Given the description of an element on the screen output the (x, y) to click on. 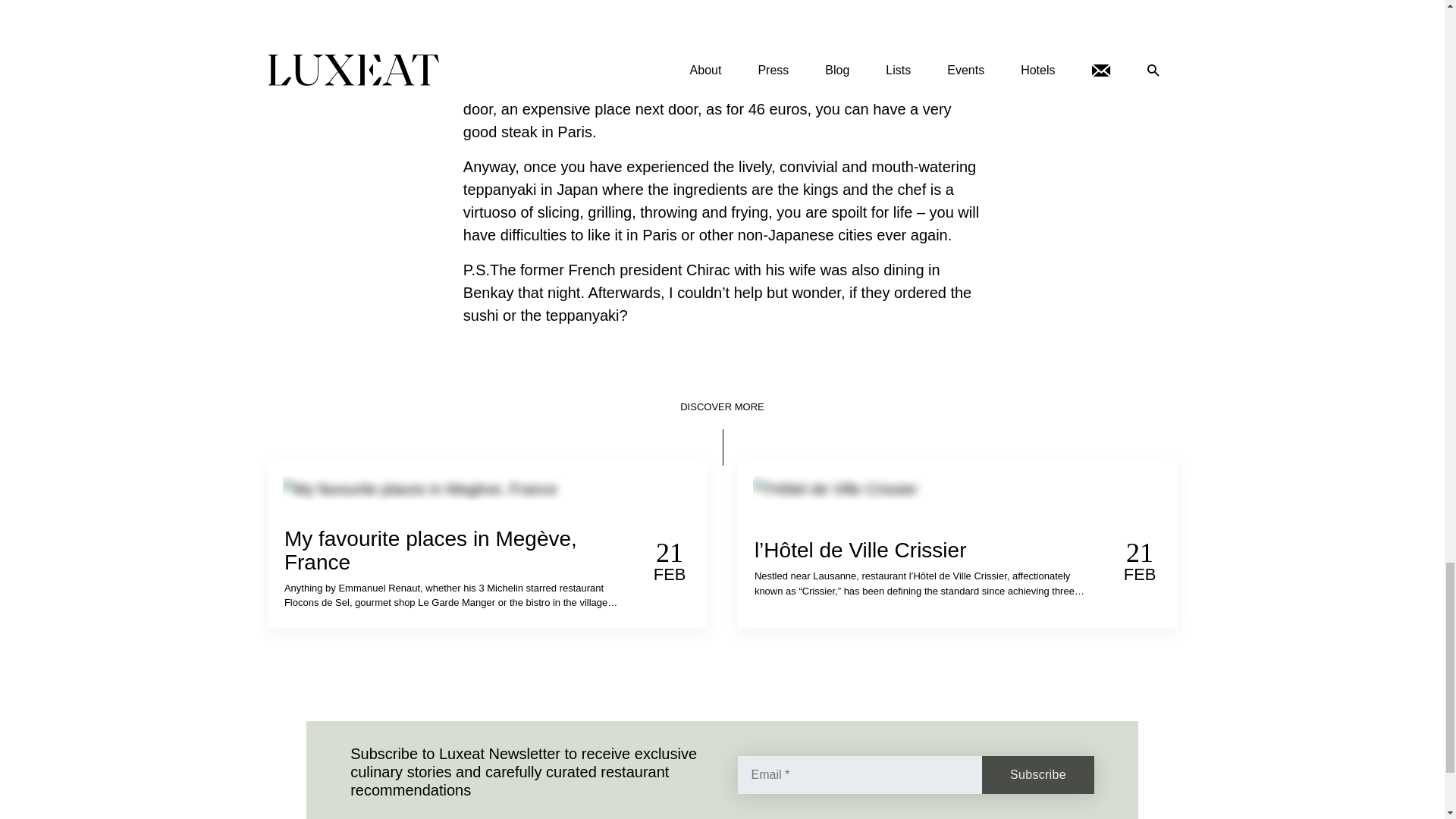
Subscribe (1037, 774)
Subscribe (1037, 774)
